Given the description of an element on the screen output the (x, y) to click on. 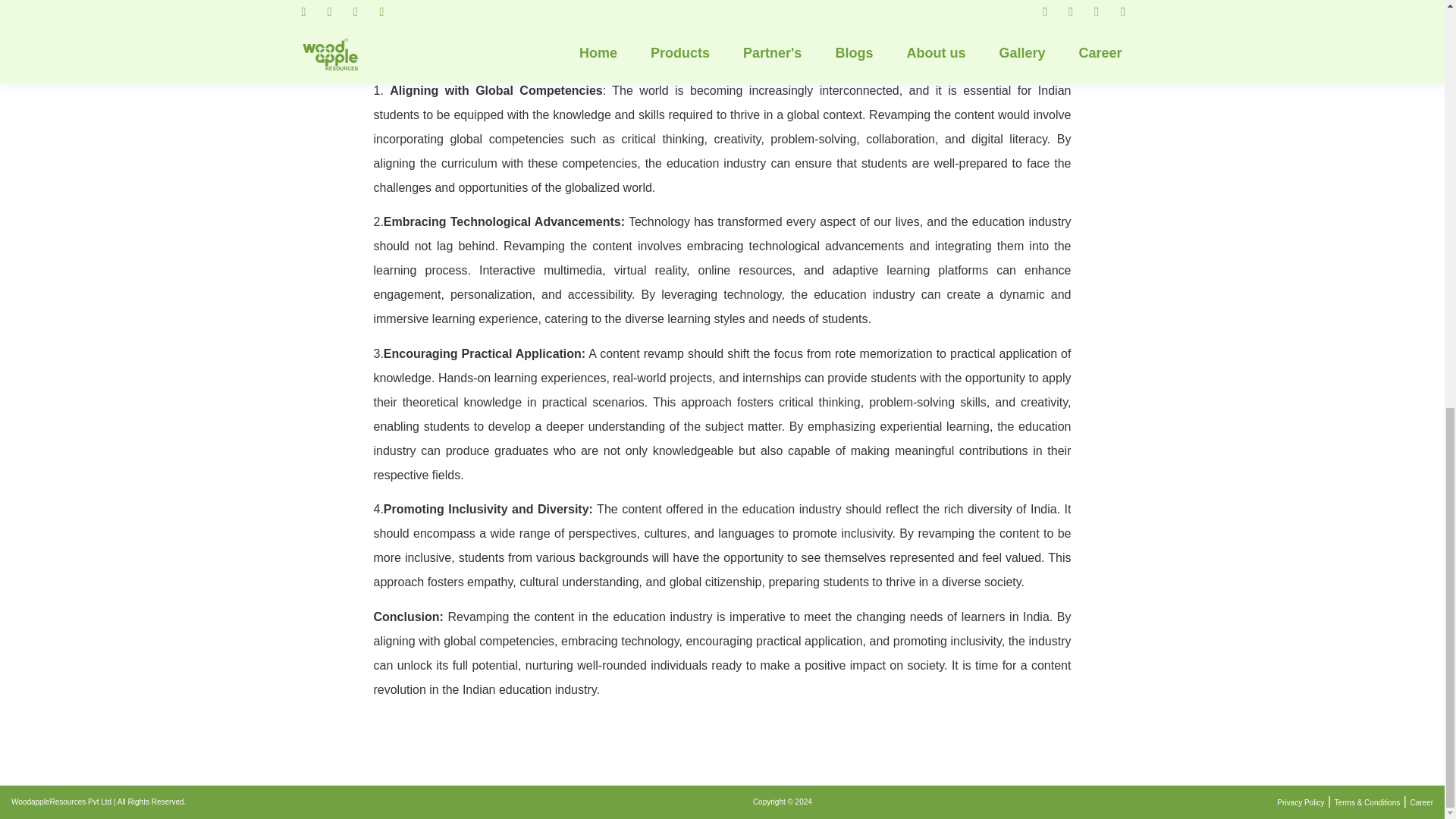
Career (1420, 802)
Privacy Policy (1299, 802)
